Given the description of an element on the screen output the (x, y) to click on. 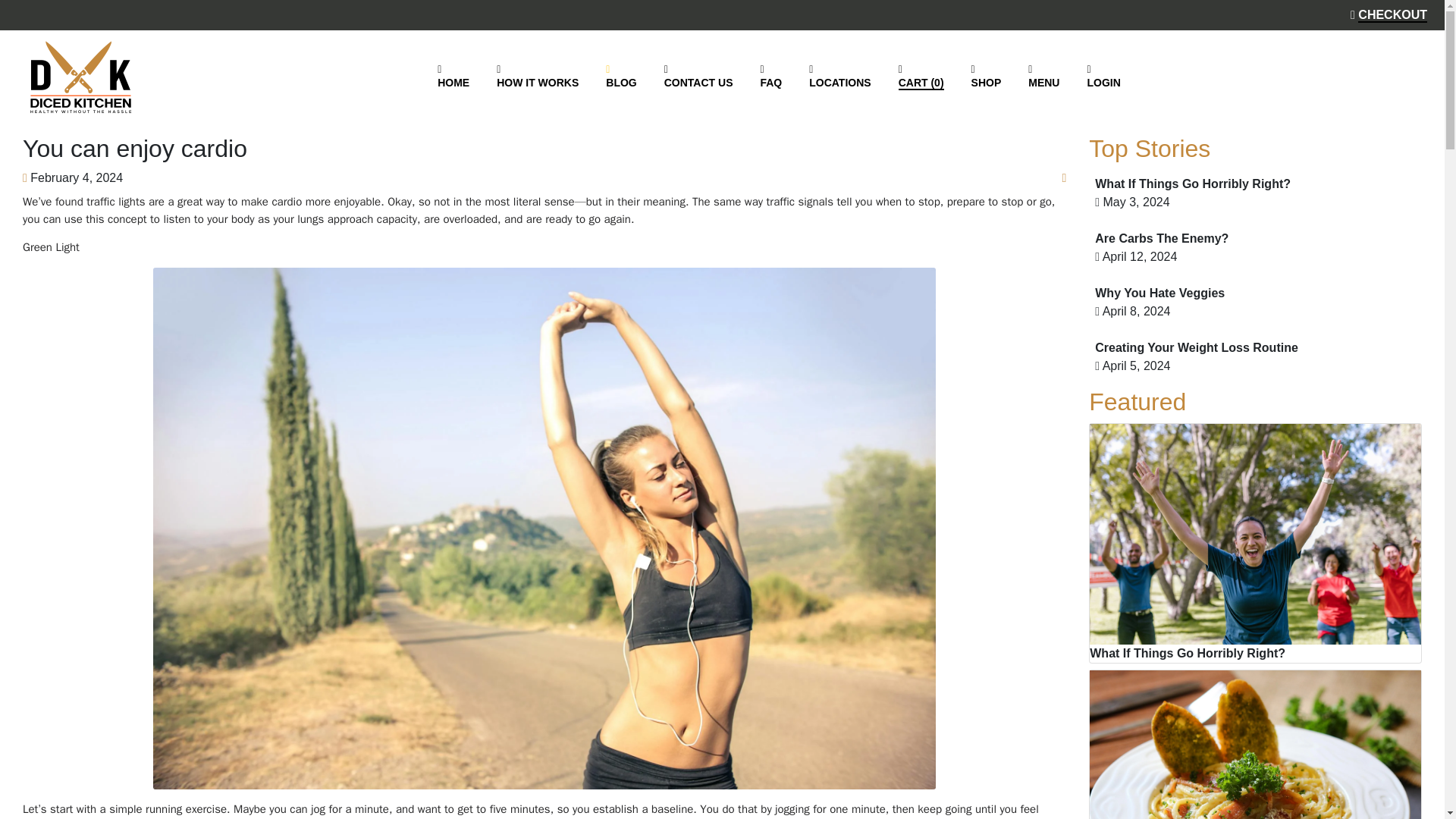
FAQ (770, 77)
BLOG (620, 77)
LOCATIONS (839, 77)
MENU (1043, 77)
SHOP (986, 77)
CONTACT US (698, 77)
HOW IT WORKS (537, 77)
HOME (453, 77)
CHECKOUT (1388, 14)
LOGIN (1102, 77)
